Given the description of an element on the screen output the (x, y) to click on. 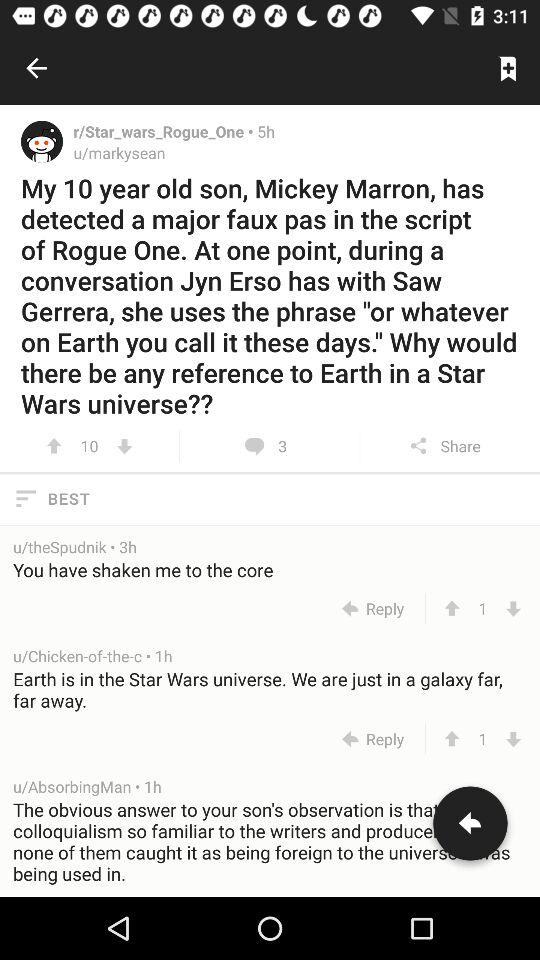
view user 's profile (42, 141)
